Given the description of an element on the screen output the (x, y) to click on. 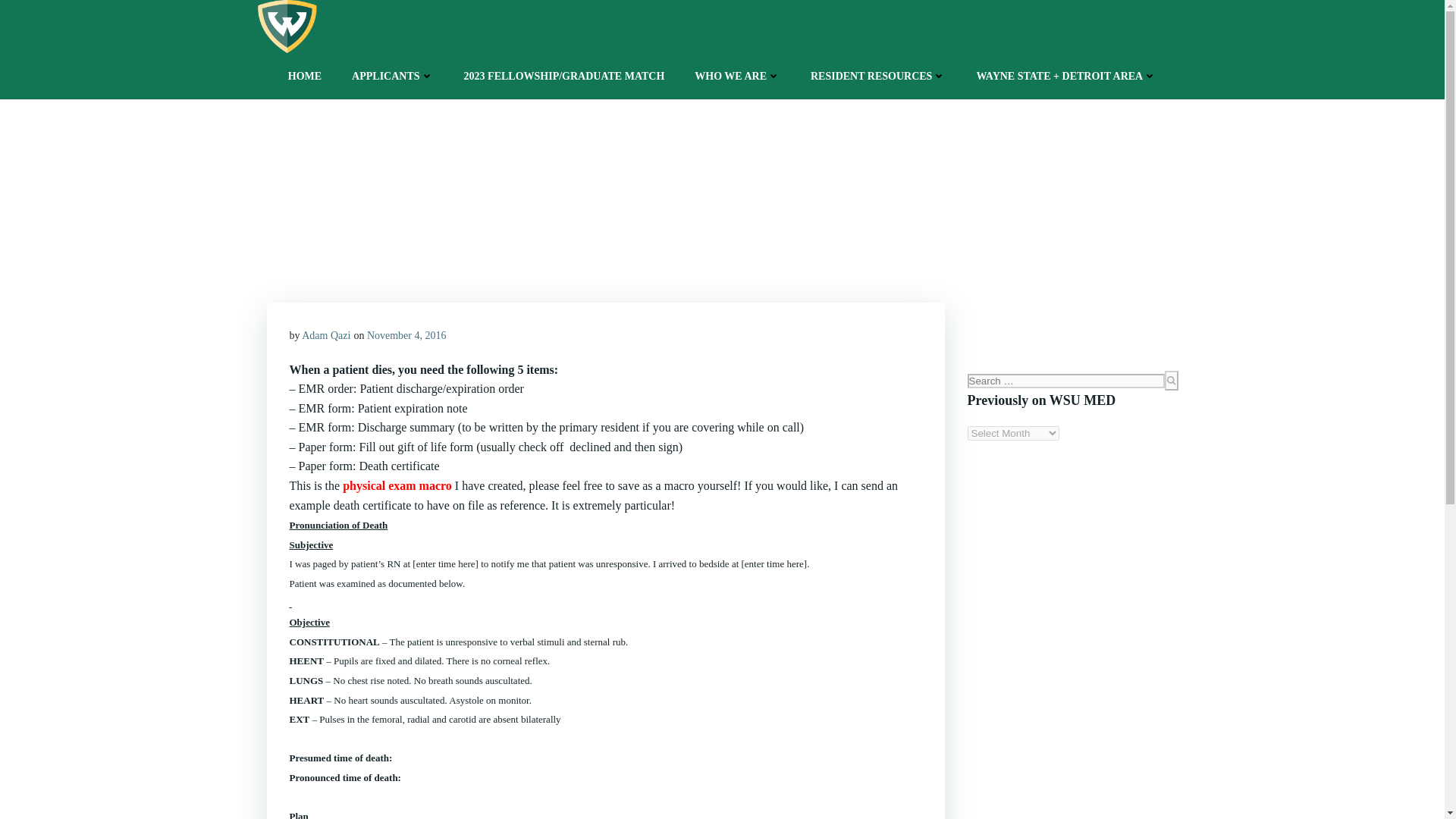
APPLICANTS (392, 75)
RESIDENT RESOURCES (877, 75)
WHO WE ARE (737, 75)
HOME (304, 75)
